Given the description of an element on the screen output the (x, y) to click on. 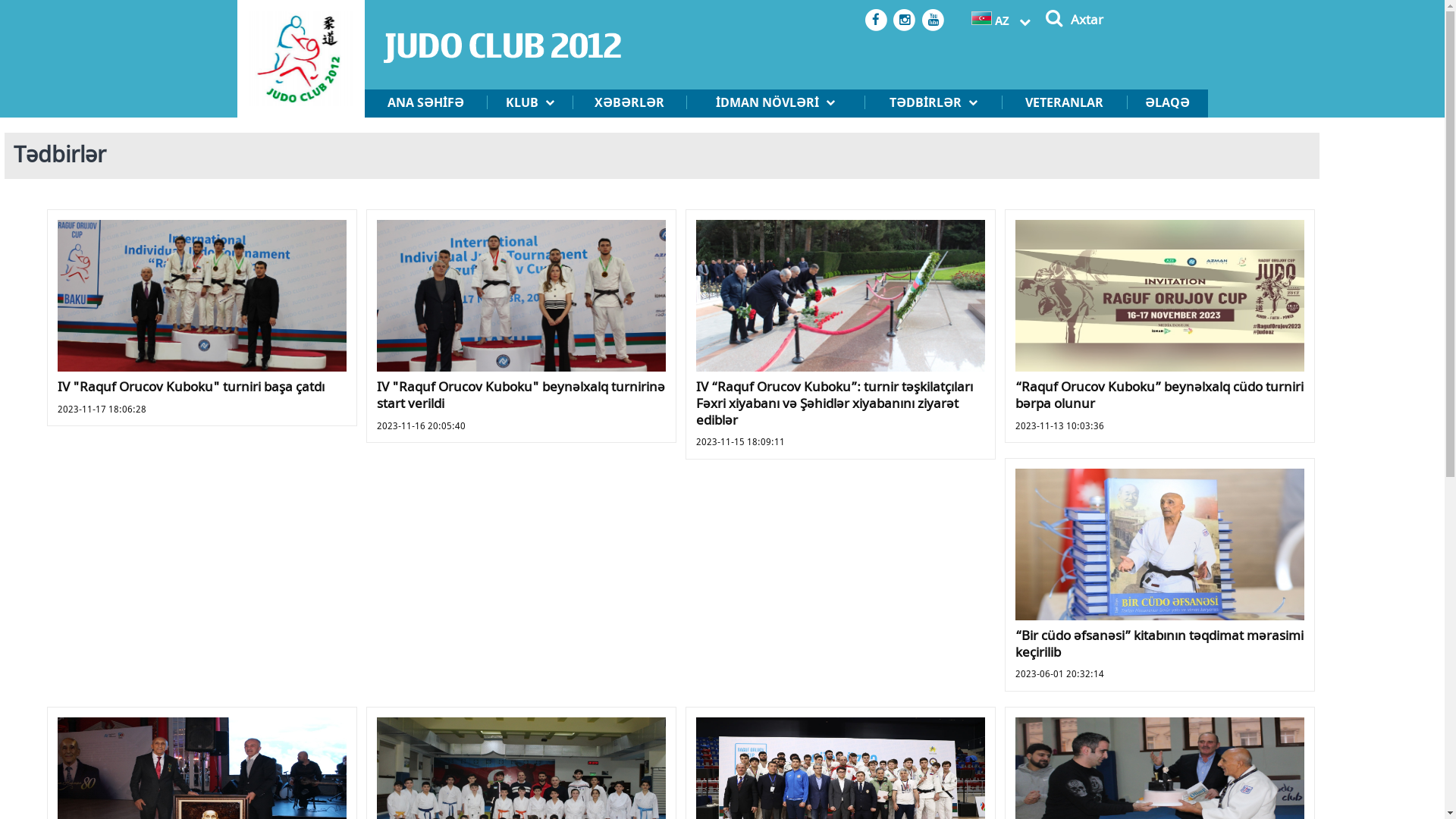
logo.png Element type: hover (300, 58)
logo.png Element type: hover (501, 61)
KLUB Element type: text (529, 103)
VETERANLAR Element type: text (1063, 103)
Axtar Element type: text (1086, 19)
